Given the description of an element on the screen output the (x, y) to click on. 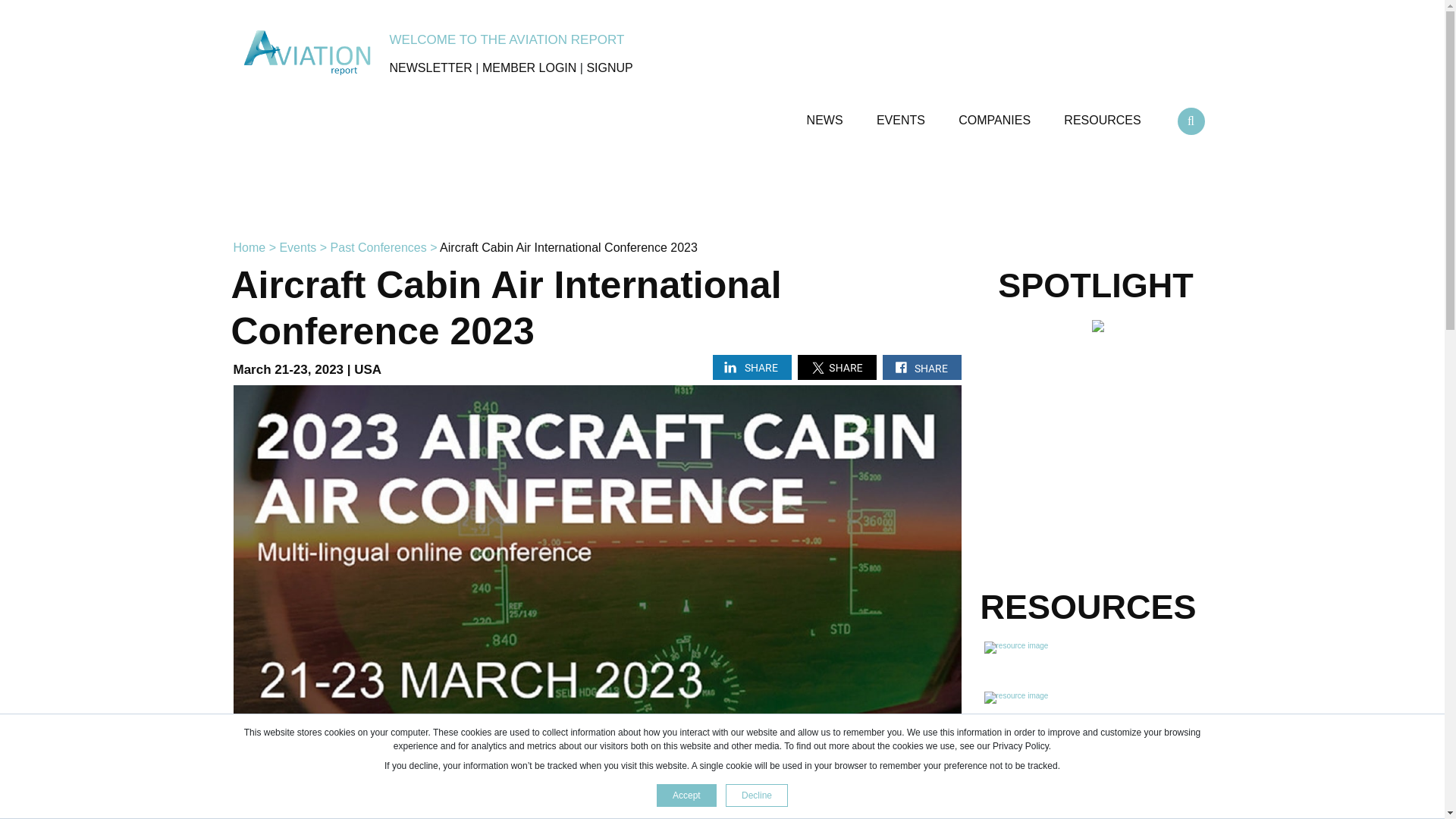
NEWSLETTER (430, 67)
MEMBER LOGIN (528, 67)
Advertisement (1094, 468)
Home (249, 246)
Advertisement (1094, 805)
Events (297, 246)
EVENTS (901, 113)
RESOURCES (1104, 113)
Advertisement (721, 191)
COMPANIES (996, 113)
